Given the description of an element on the screen output the (x, y) to click on. 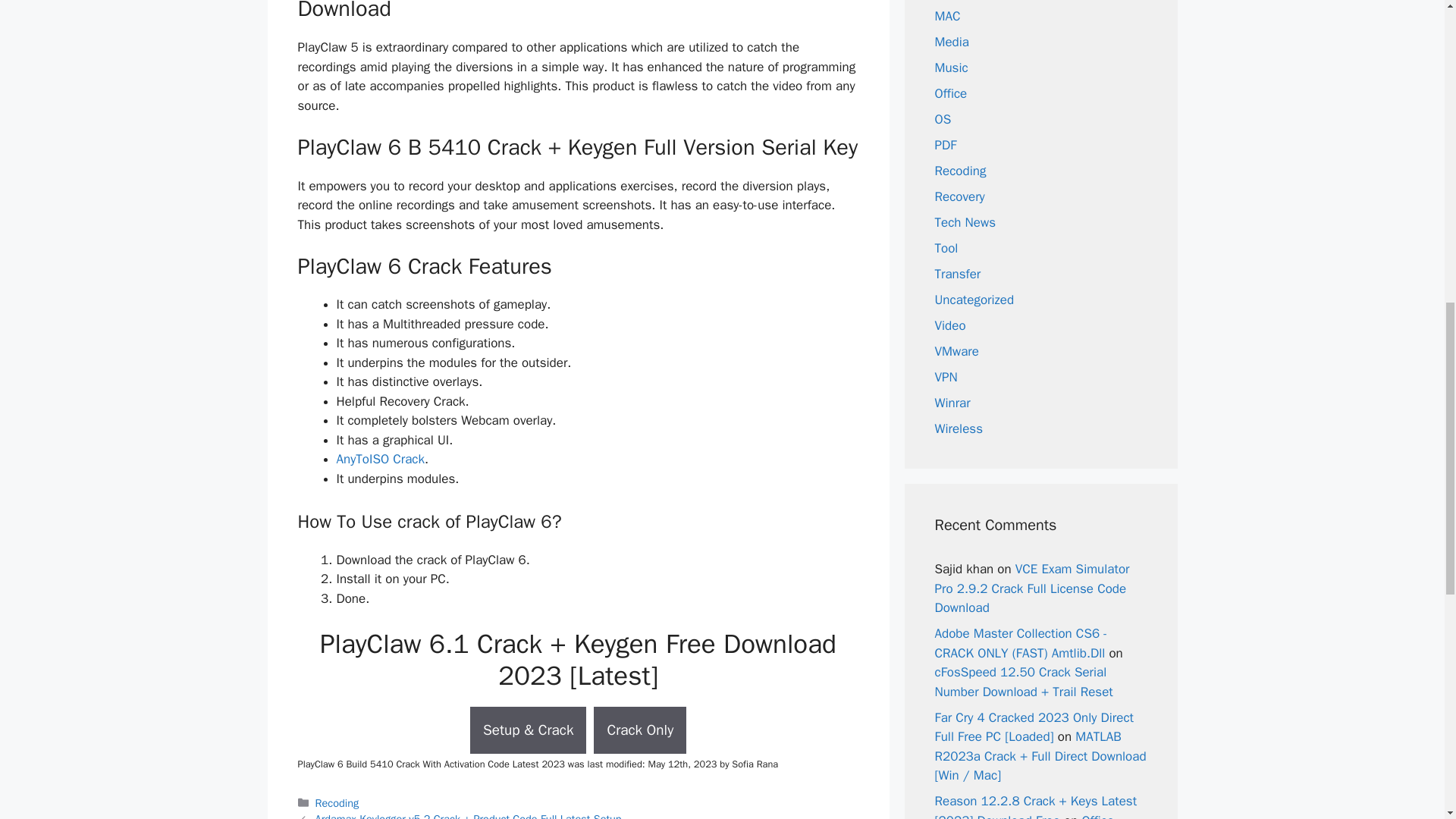
MAC (946, 15)
Crack Only (639, 730)
Recoding (337, 802)
AnyToISO Crack (380, 458)
